Given the description of an element on the screen output the (x, y) to click on. 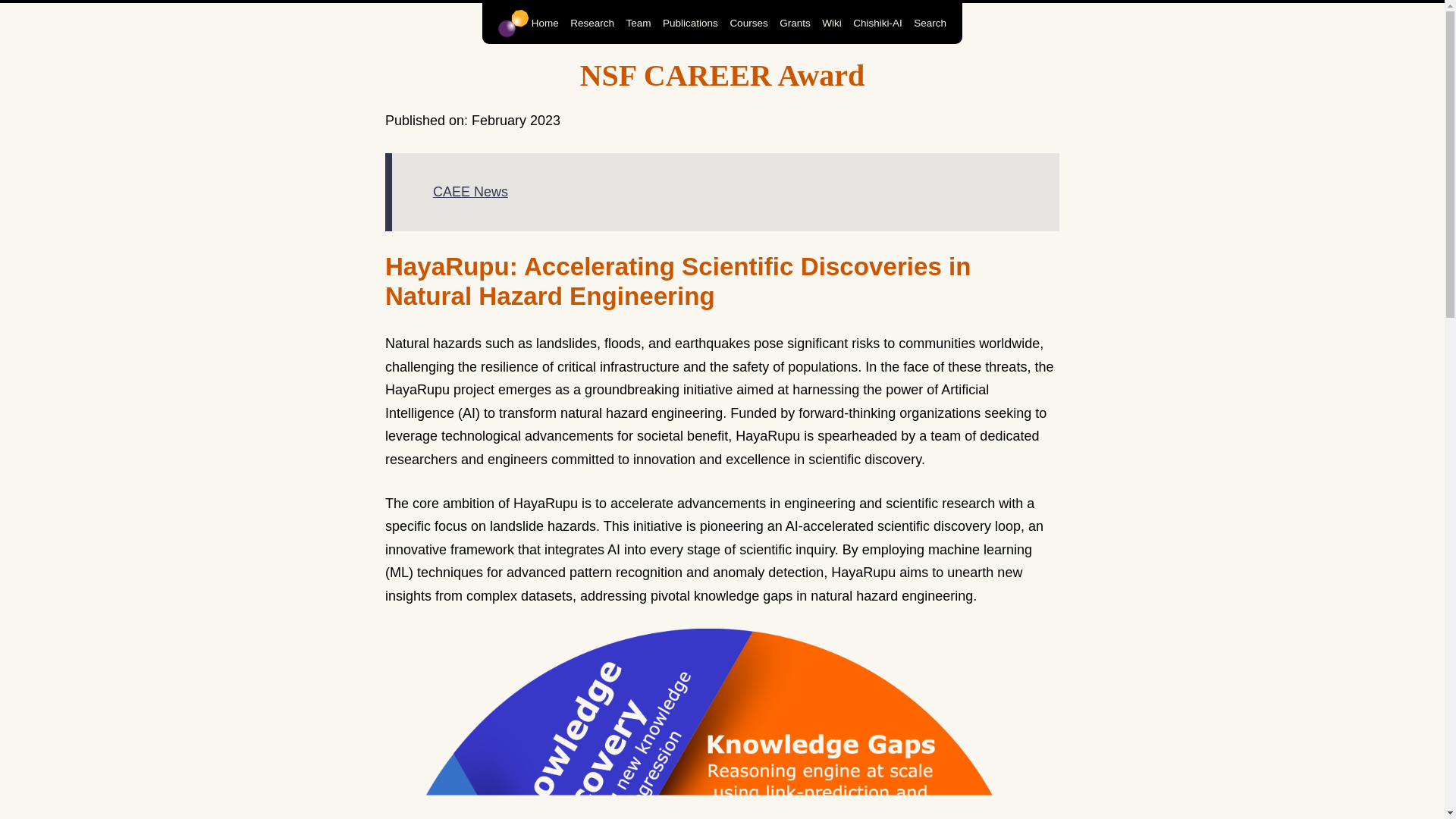
CAEE News (470, 191)
